Given the description of an element on the screen output the (x, y) to click on. 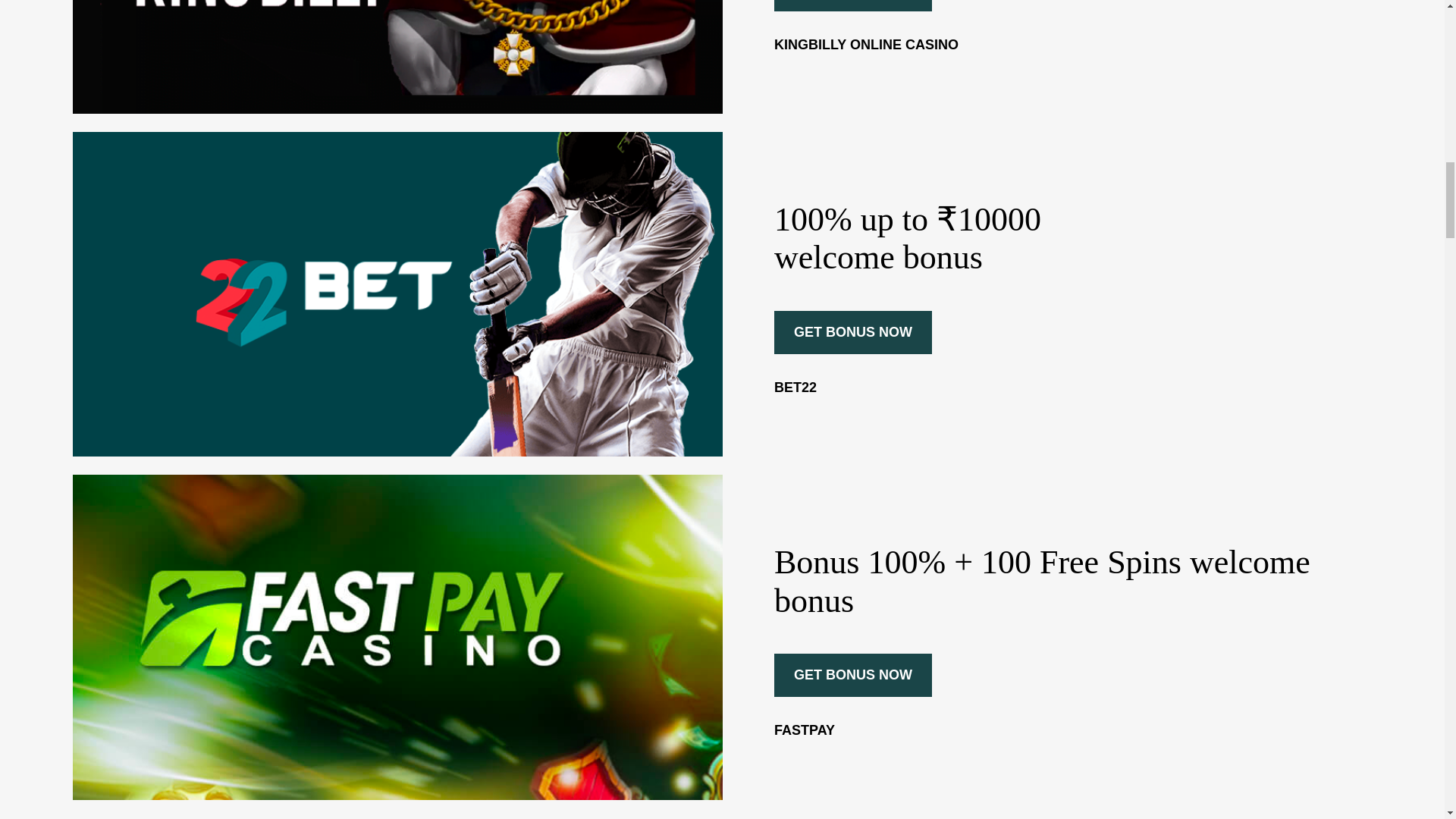
GET BONUS NOW (852, 332)
GET BONUS NOW (852, 5)
GET BONUS NOW (852, 674)
